Given the description of an element on the screen output the (x, y) to click on. 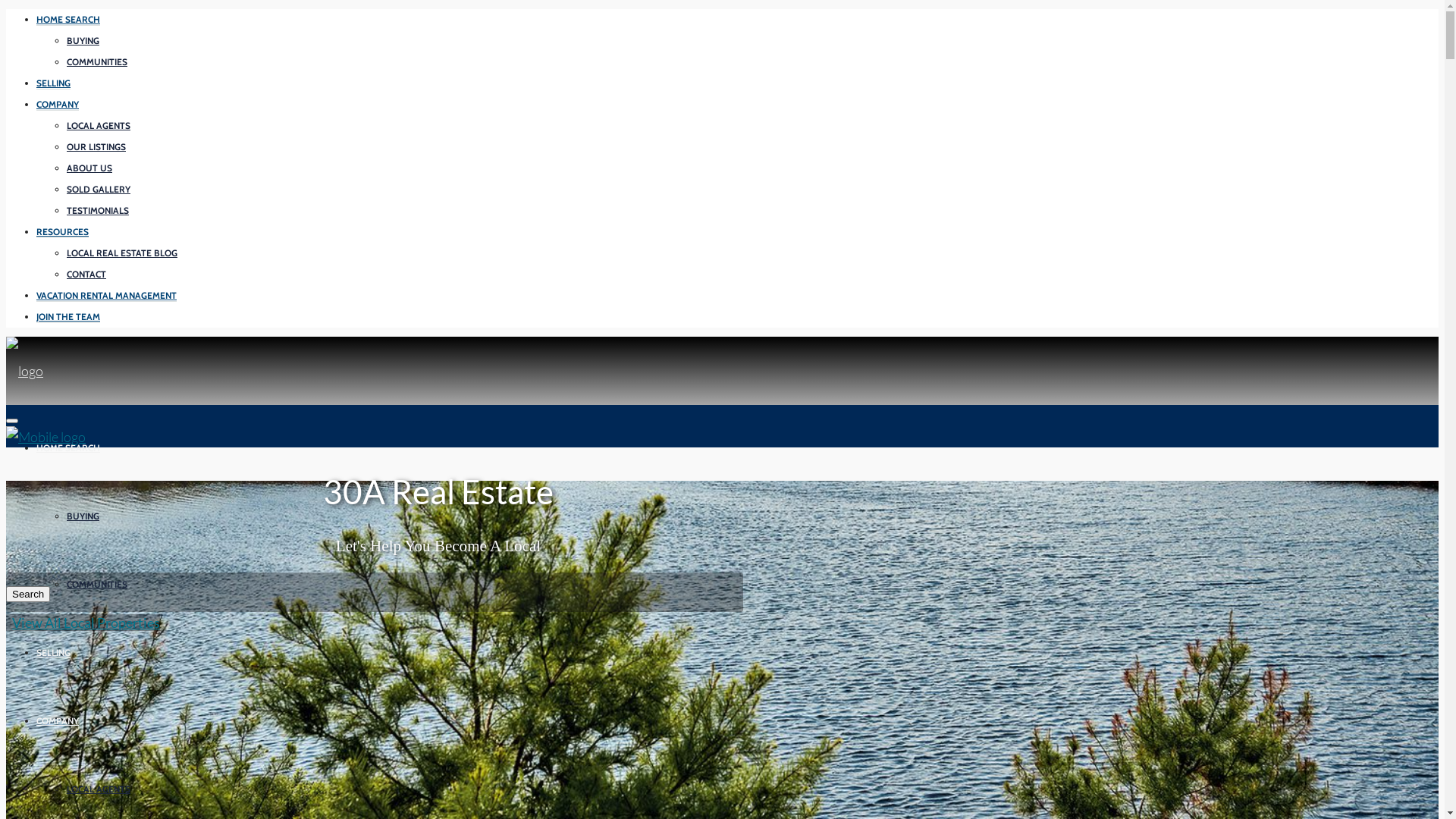
VACATION RENTAL MANAGEMENT Element type: text (106, 295)
ABOUT US Element type: text (89, 168)
SELLING Element type: text (53, 652)
LOCAL AGENTS Element type: text (98, 789)
HOME SEARCH Element type: text (68, 19)
SELLING Element type: text (53, 83)
BUYING Element type: text (82, 516)
OUR LISTINGS Element type: text (95, 147)
Search Element type: text (28, 594)
SOLD GALLERY Element type: text (98, 189)
TESTIMONIALS Element type: text (97, 210)
COMMUNITIES Element type: text (96, 62)
BUYING Element type: text (82, 40)
RESOURCES Element type: text (62, 231)
LOCAL AGENTS Element type: text (98, 125)
CONTACT Element type: text (86, 274)
HOME SEARCH Element type: text (68, 447)
View All Local Properties Element type: text (83, 622)
COMPANY Element type: text (57, 720)
LOCAL REAL ESTATE BLOG Element type: text (121, 253)
COMMUNITIES Element type: text (96, 584)
COMPANY Element type: text (57, 104)
JOIN THE TEAM Element type: text (68, 316)
